Given the description of an element on the screen output the (x, y) to click on. 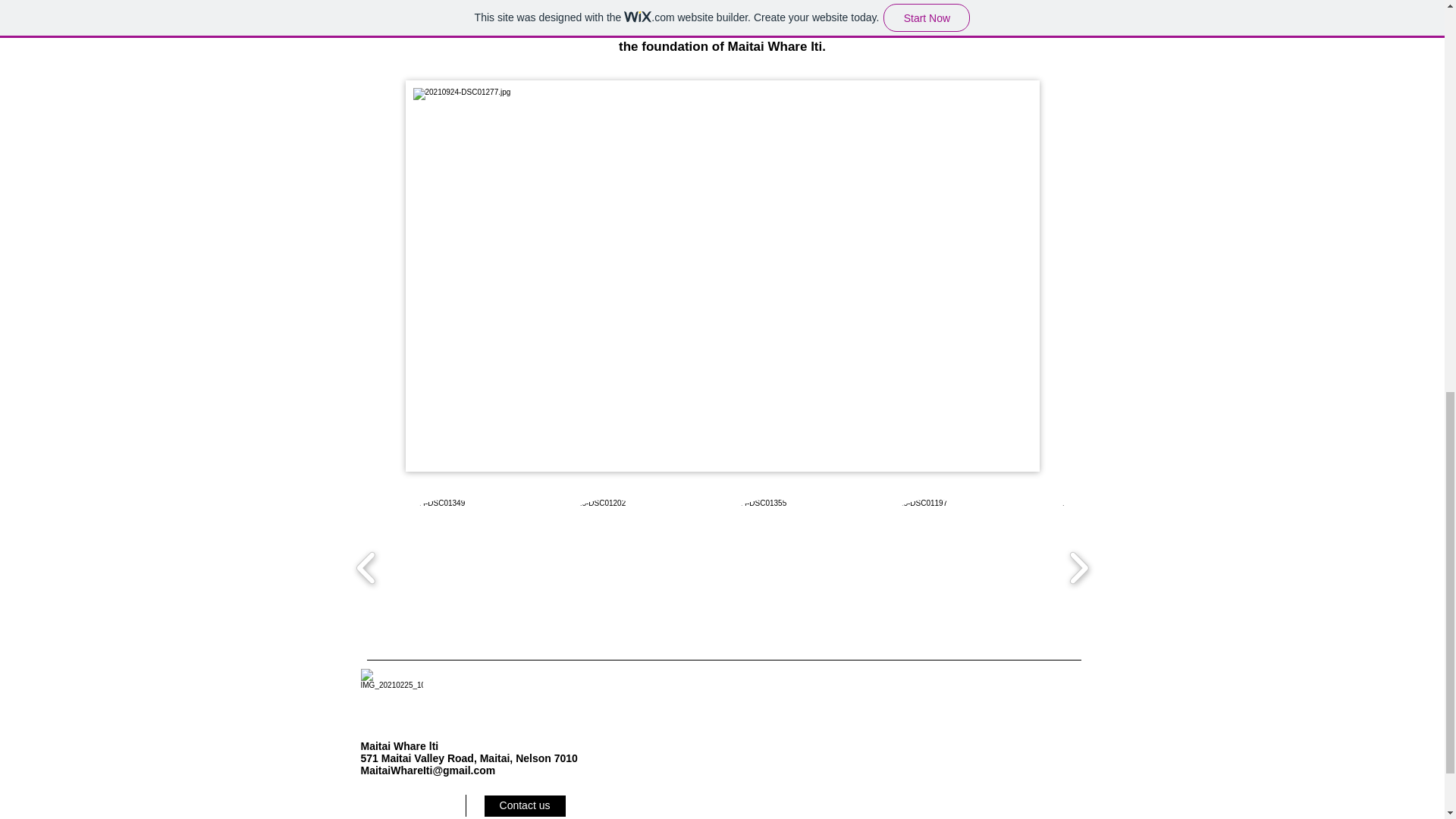
Contact us (523, 805)
